Given the description of an element on the screen output the (x, y) to click on. 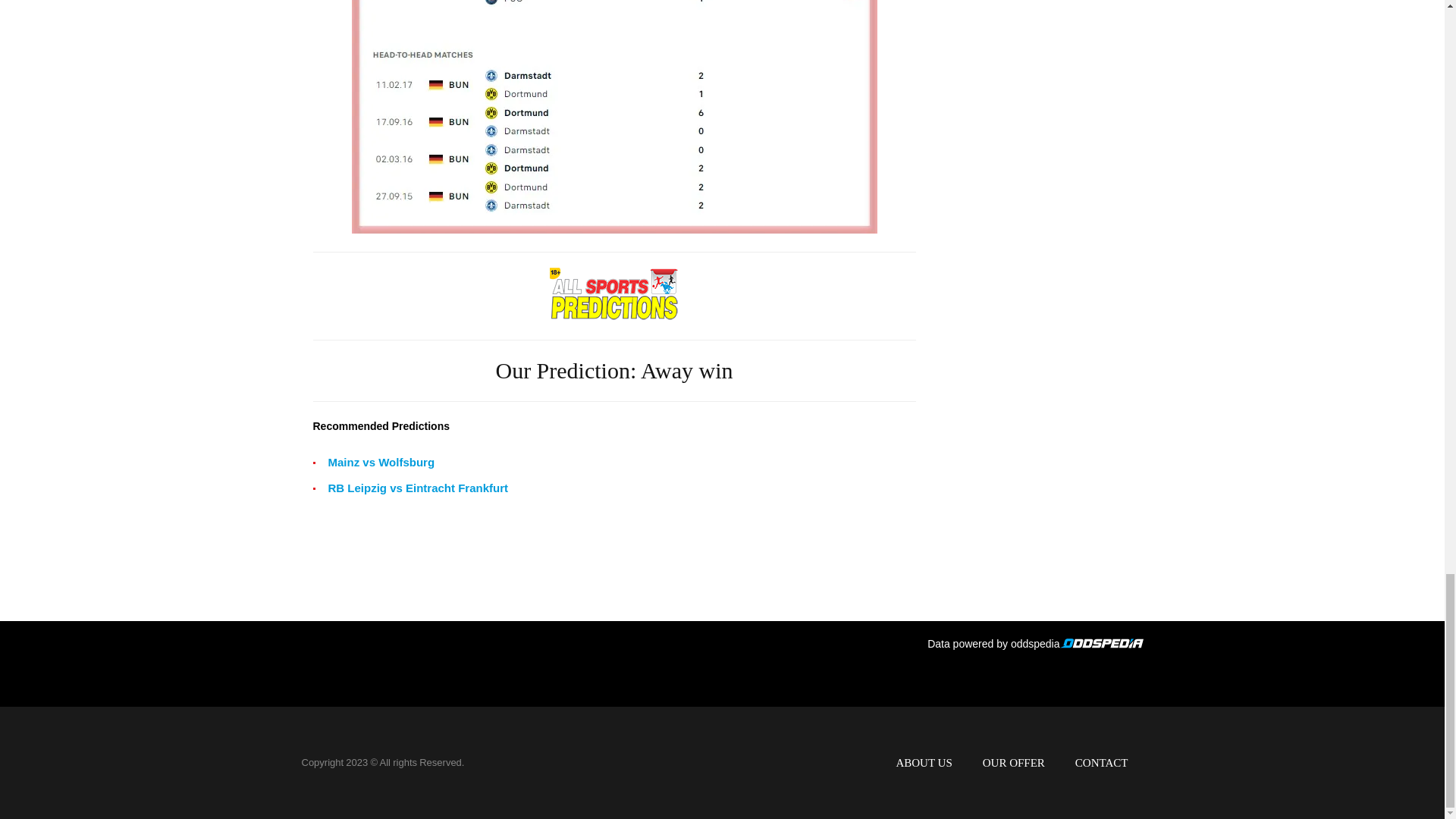
RB Leipzig vs Eintracht Frankfurt (417, 488)
Mainz vs Wolfsburg (380, 462)
